Given the description of an element on the screen output the (x, y) to click on. 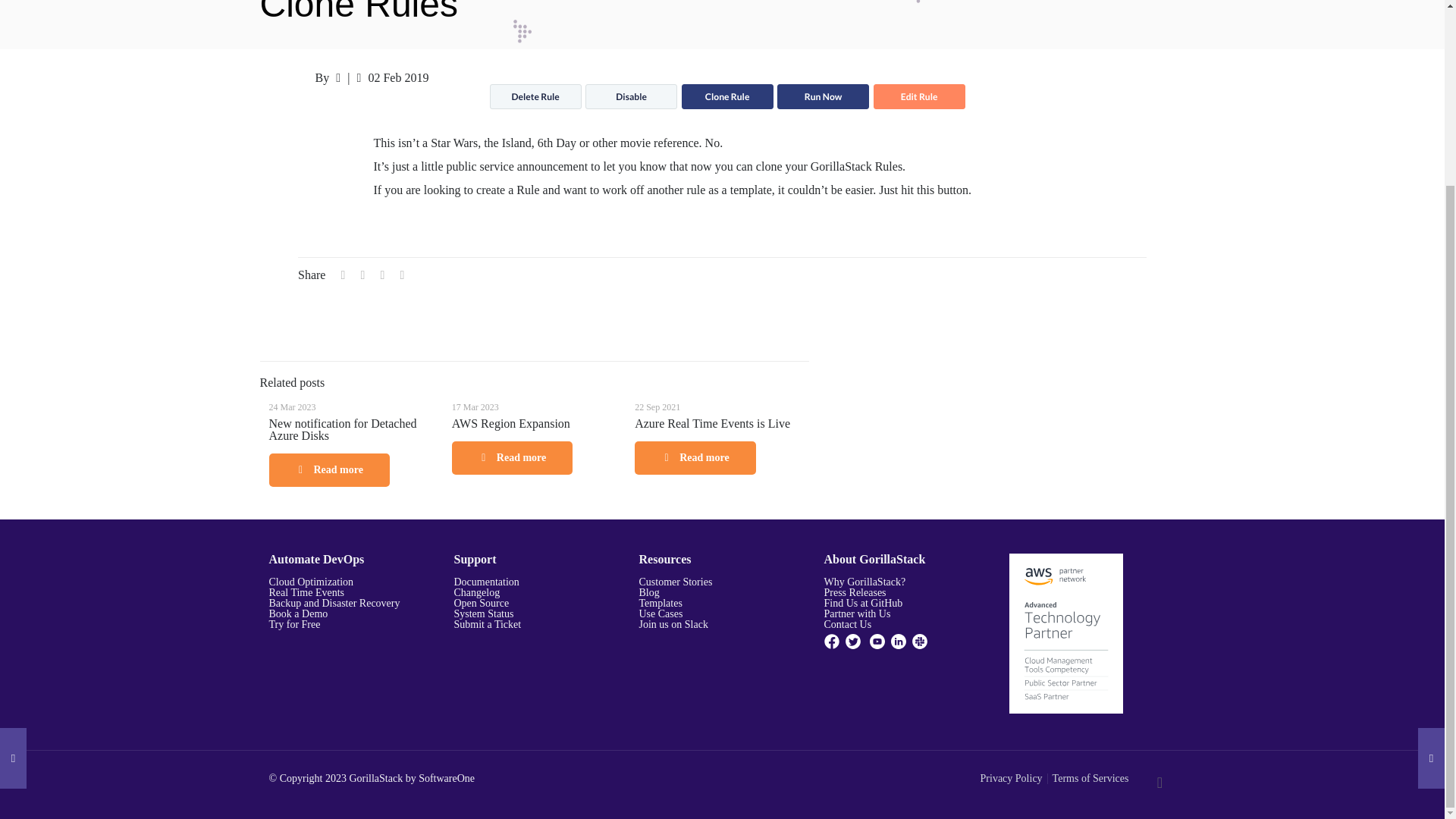
Read more (511, 458)
New notification for Detached Azure Disks (341, 429)
AWS Region Expansion (510, 422)
Read more (327, 469)
